Given the description of an element on the screen output the (x, y) to click on. 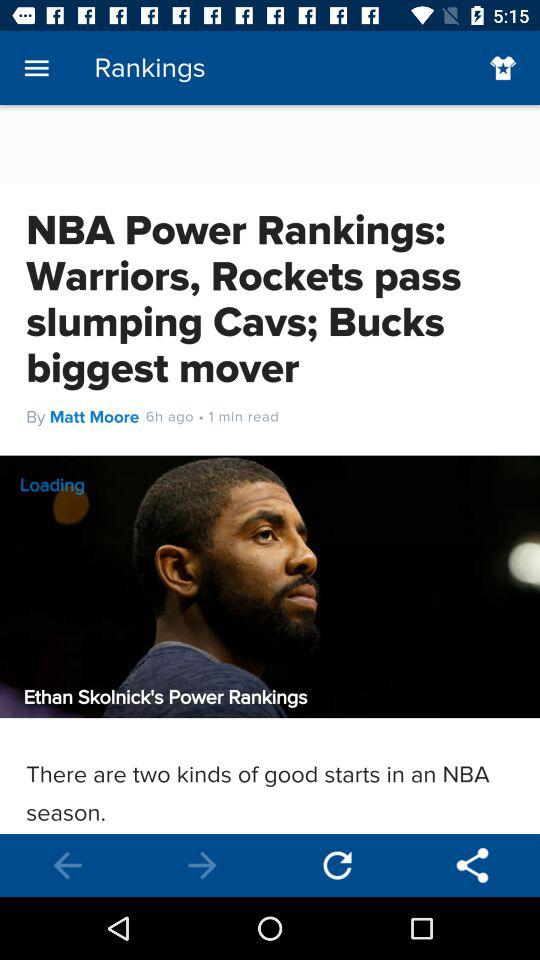
go to previous (67, 865)
